Given the description of an element on the screen output the (x, y) to click on. 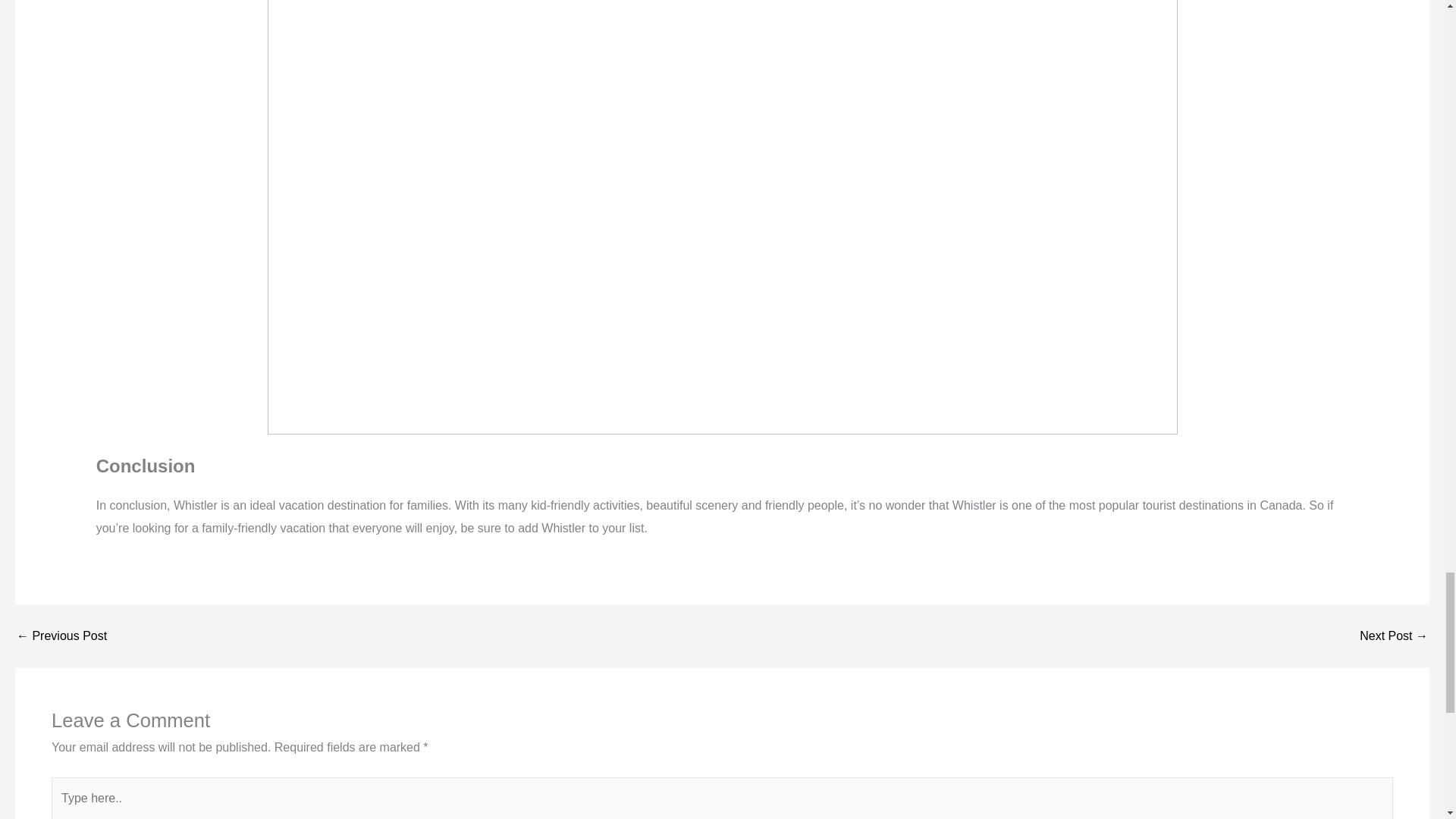
Best Places to Stay in Lake Tahoe (1393, 635)
Why choose Manly Holiday Homes (61, 635)
